Given the description of an element on the screen output the (x, y) to click on. 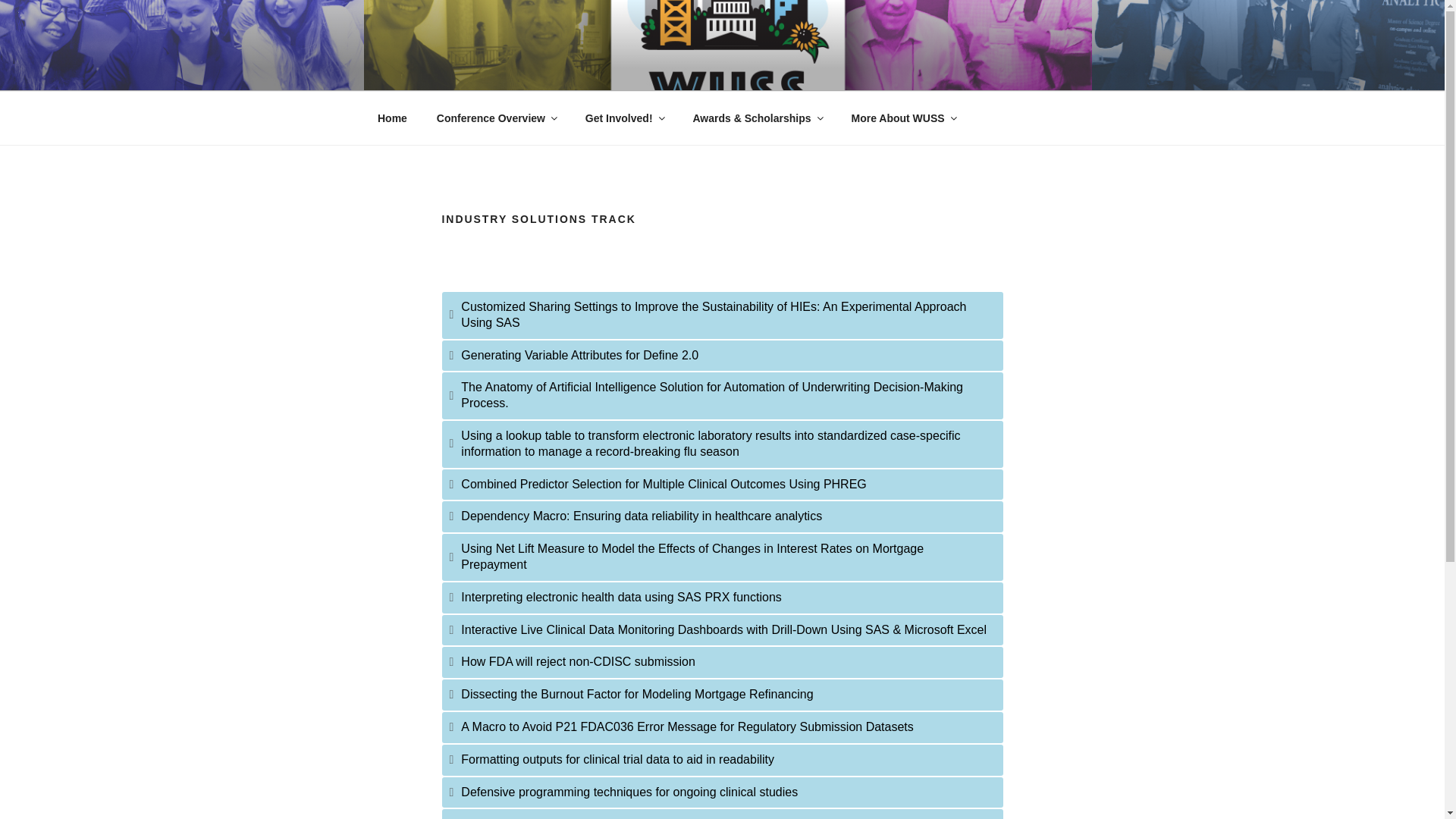
More About WUSS (903, 118)
Home (392, 118)
Get Involved! (624, 118)
Conference Overview (496, 118)
